Given the description of an element on the screen output the (x, y) to click on. 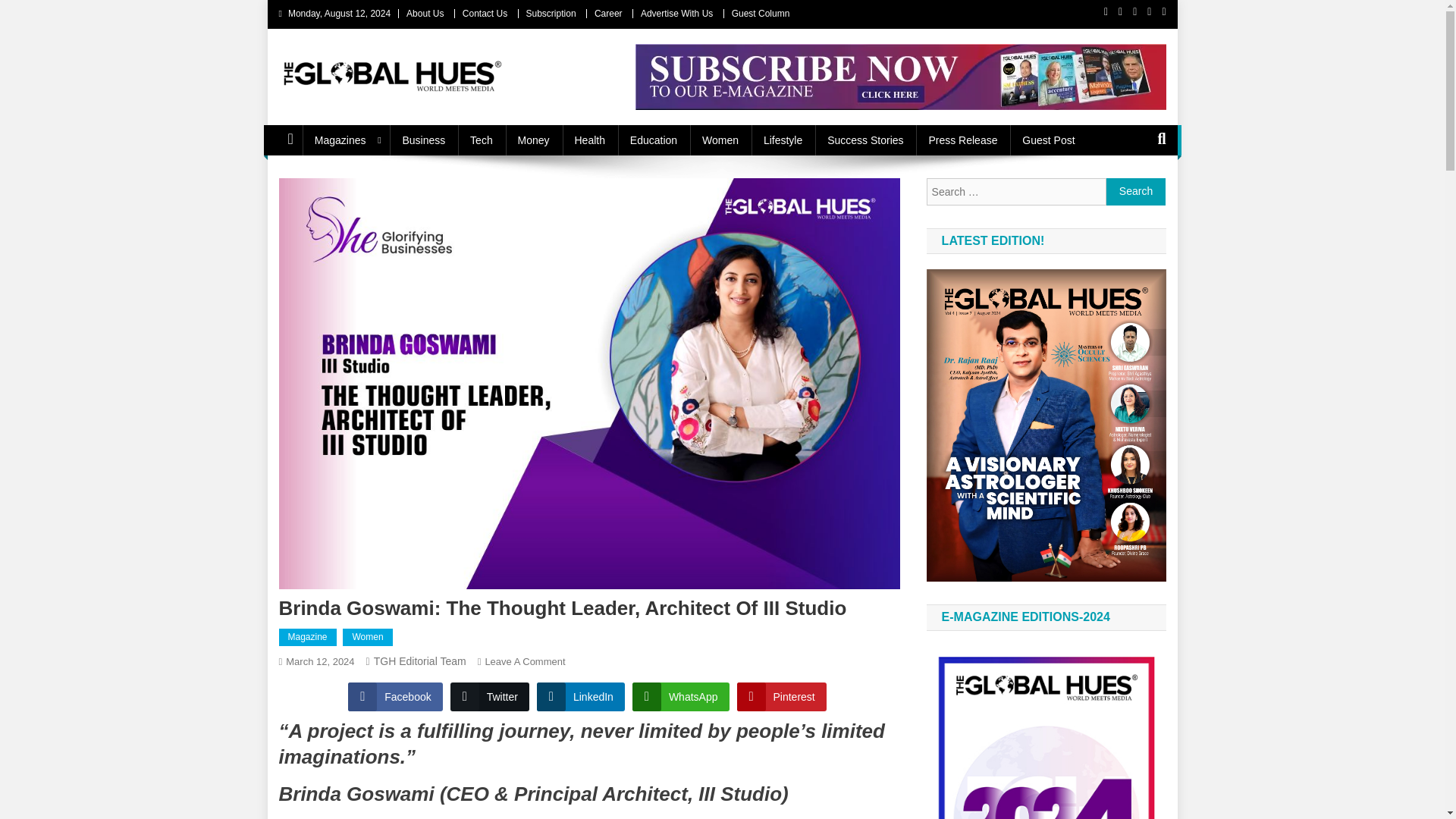
The Global Hues (374, 108)
Money (533, 140)
Magazine (307, 637)
Guest Column (761, 13)
Women (366, 637)
Advertise With Us (676, 13)
Contact Us (484, 13)
Health (589, 140)
Search (1136, 191)
About Us (425, 13)
